Given the description of an element on the screen output the (x, y) to click on. 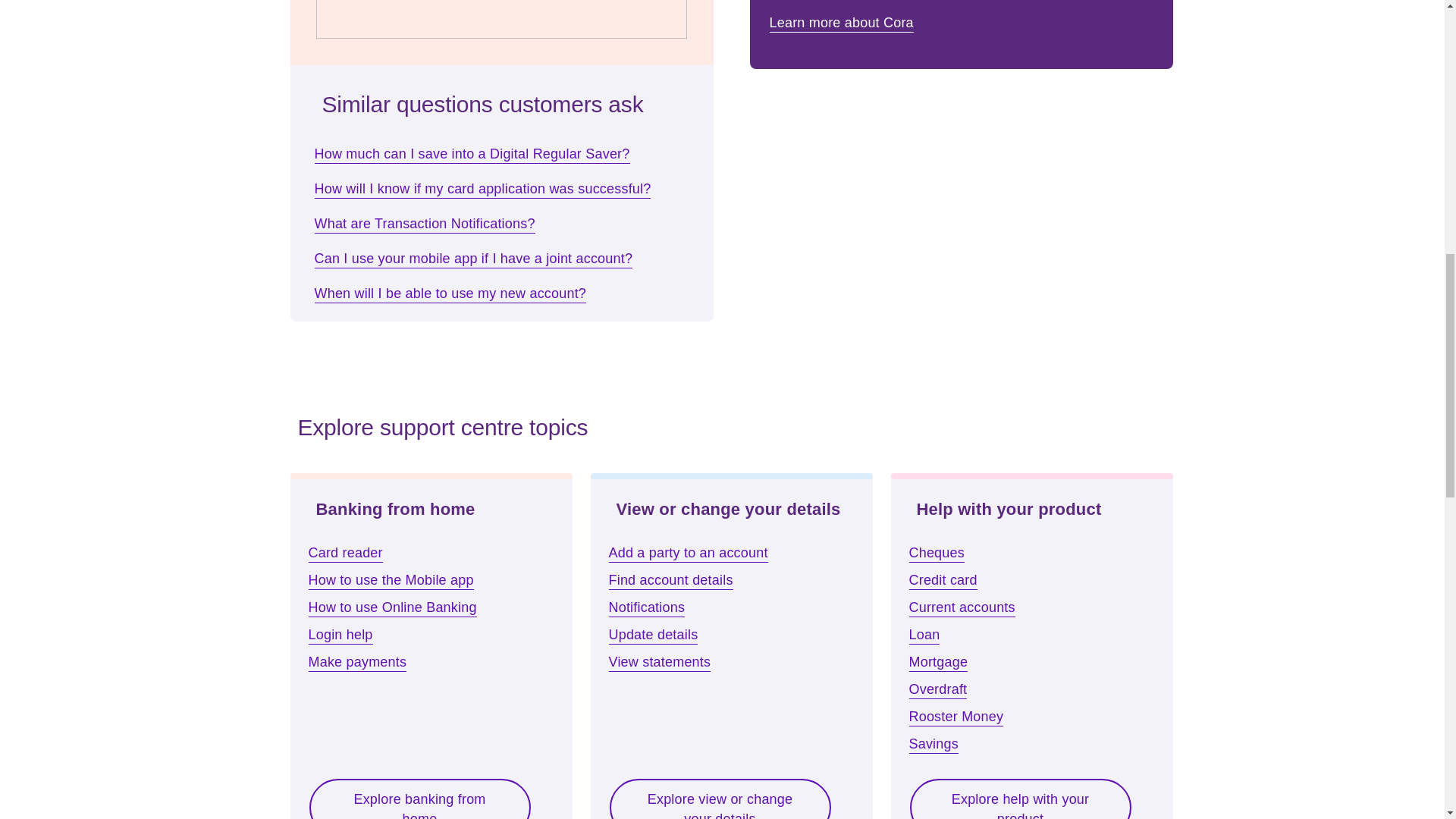
Learn more about Cora (842, 22)
Explore view or change your details (719, 796)
Explore banking from home (419, 796)
Explore help with your product (1019, 796)
